Given the description of an element on the screen output the (x, y) to click on. 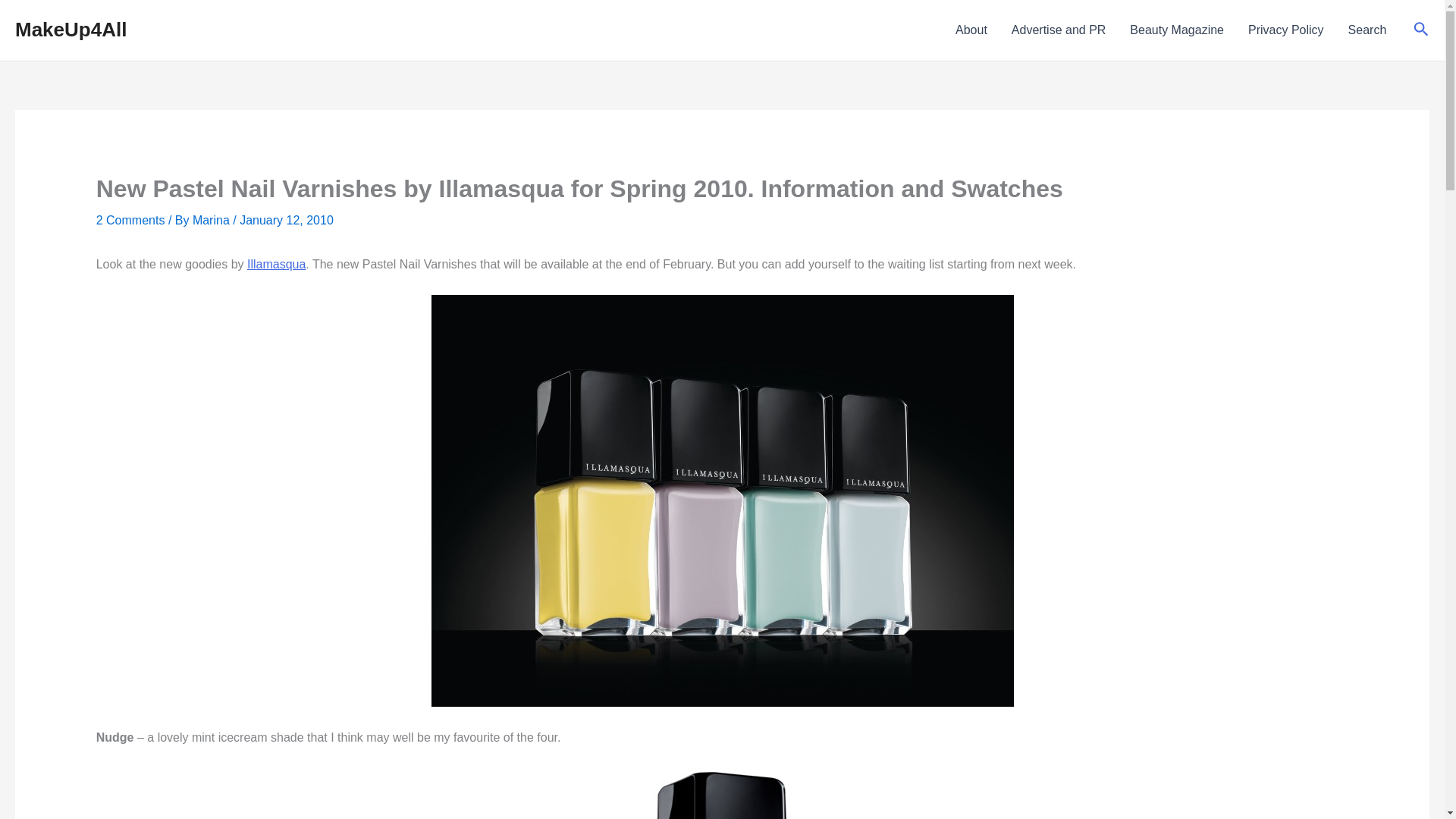
Marina (212, 219)
View all posts by Marina (212, 219)
About (970, 30)
Advertise and PR (1058, 30)
MakeUp4All (70, 29)
Search (1367, 30)
Illamasqua nail varnish nudge spring 2010 (721, 793)
Illamasqua (276, 264)
2 Comments (130, 219)
Privacy Policy (1286, 30)
Beauty Magazine (1177, 30)
